Given the description of an element on the screen output the (x, y) to click on. 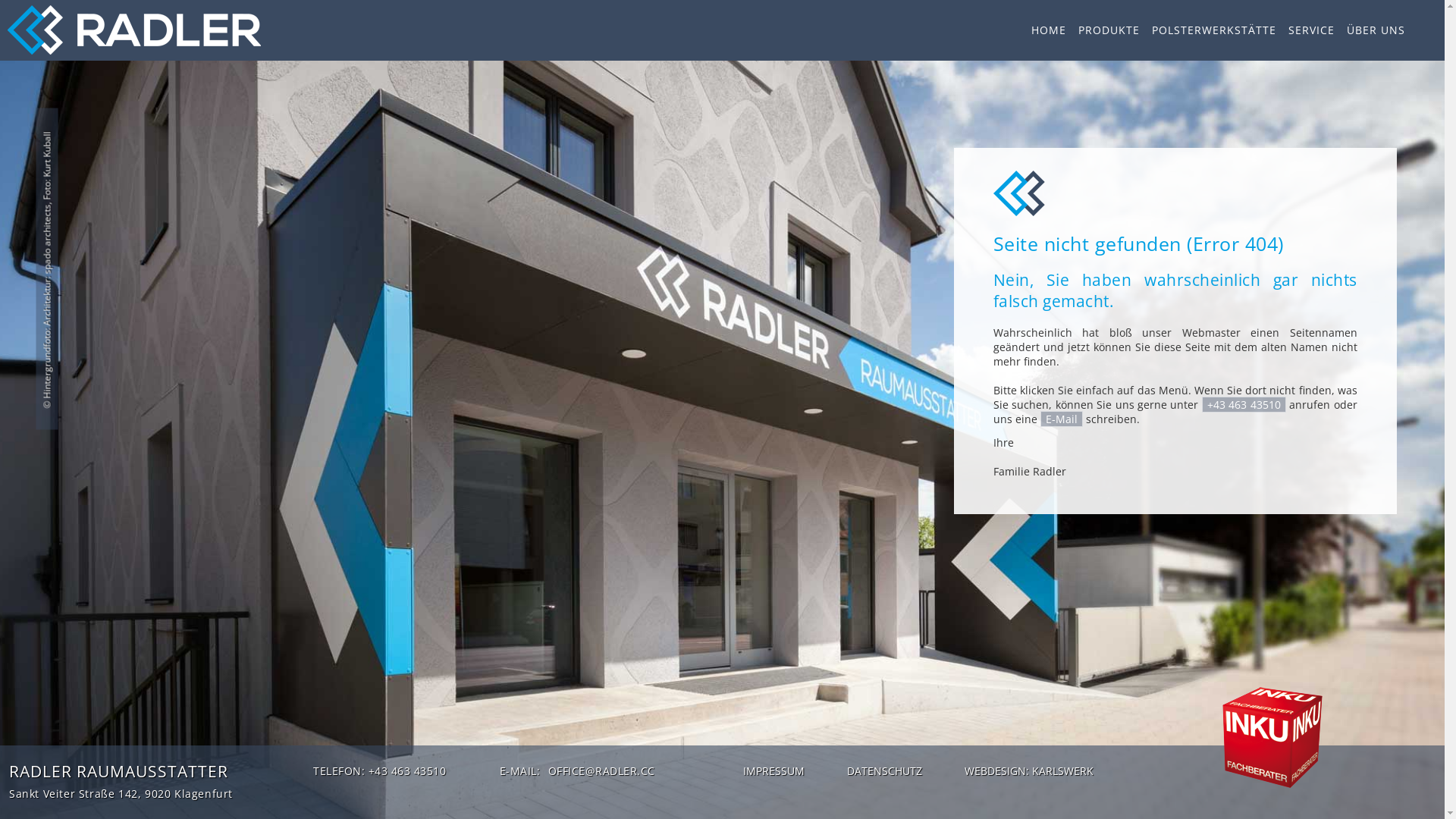
DATENSCHUTZ Element type: text (883, 770)
+43 463 43510 Element type: text (1243, 404)
HOME Element type: text (1048, 30)
PRODUKTE Element type: text (1108, 30)
E-Mail Element type: text (1061, 418)
WEBDESIGN: KARLSWERK Element type: text (1029, 770)
TELEFON: +43 463 43510 Element type: text (379, 770)
SERVICE Element type: text (1311, 30)
OFFICE@RADLER.CC Element type: text (600, 770)
IMPRESSUM Element type: text (773, 770)
